Given the description of an element on the screen output the (x, y) to click on. 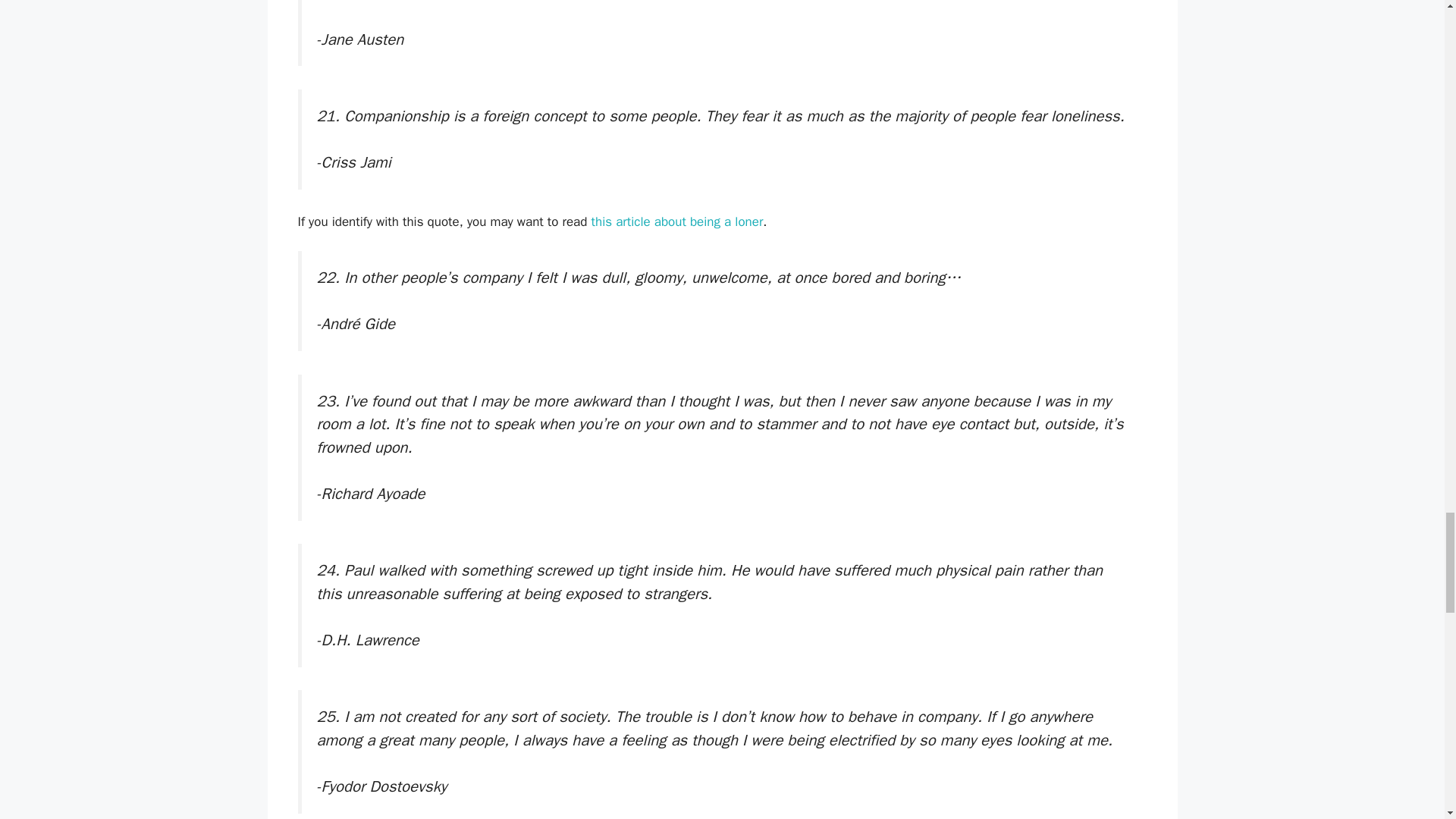
this article about being a loner (676, 221)
